Given the description of an element on the screen output the (x, y) to click on. 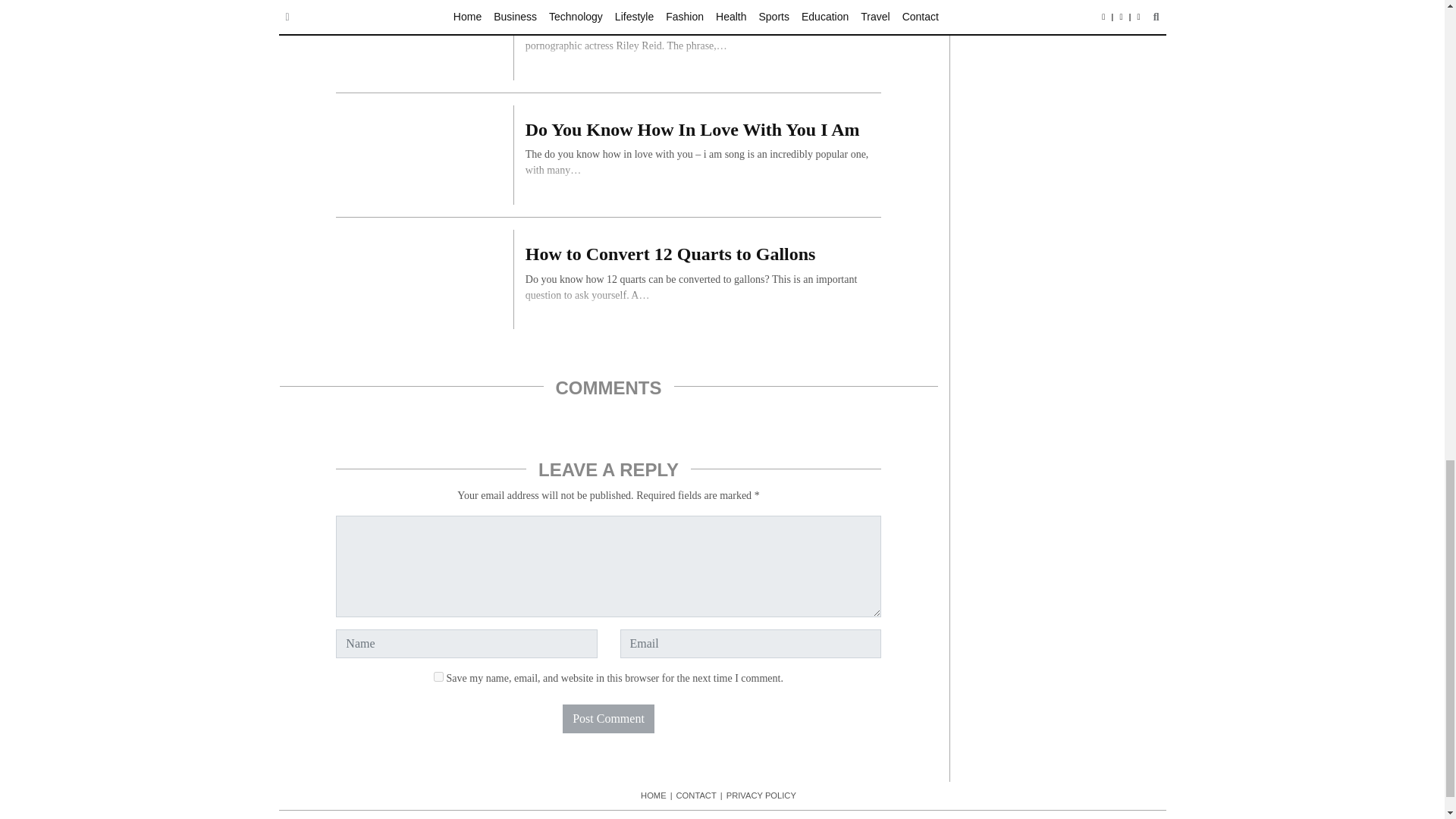
yes (438, 676)
Post Comment (607, 718)
Post Comment (607, 718)
